Given the description of an element on the screen output the (x, y) to click on. 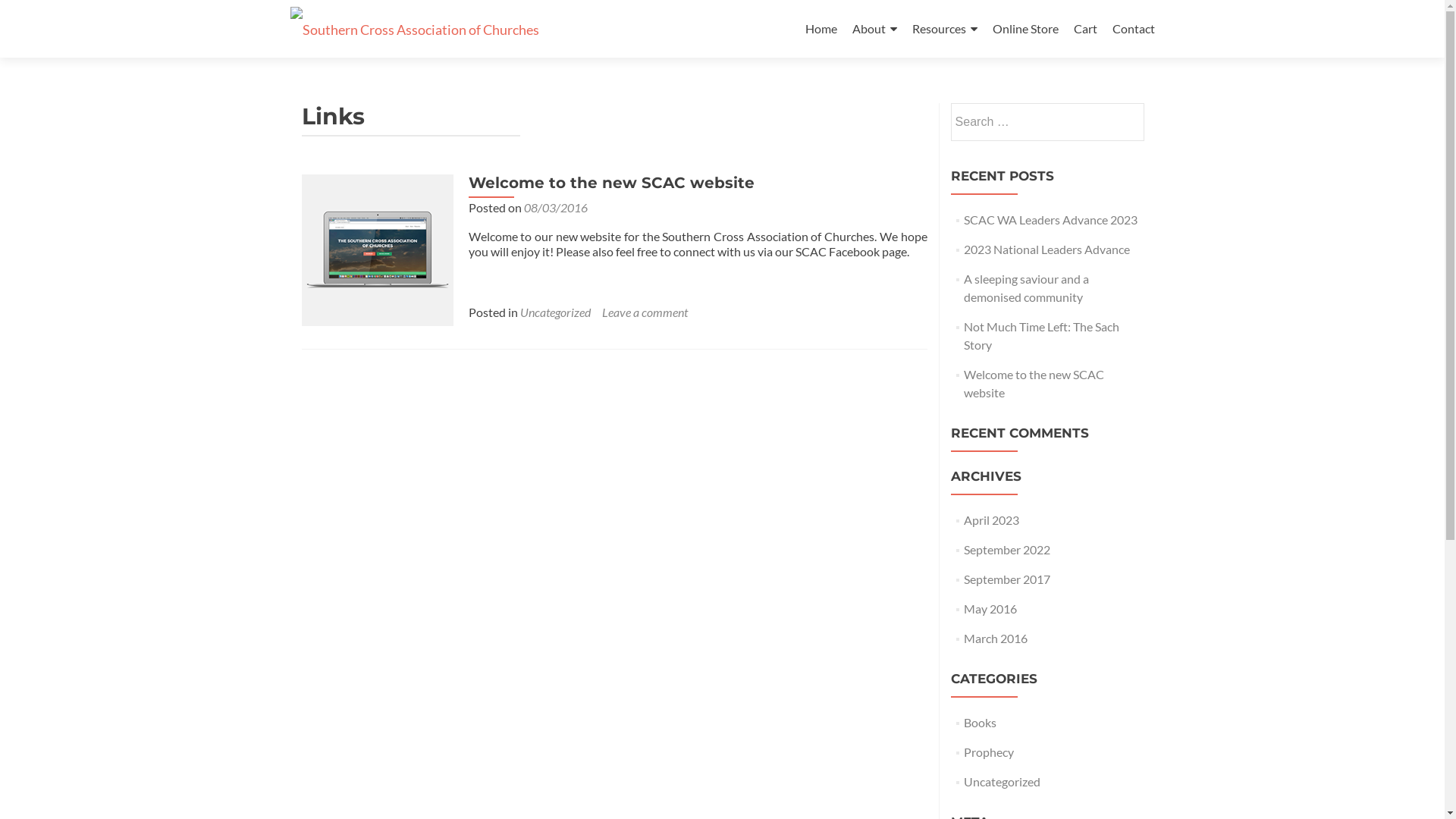
SCAC WA Leaders Advance 2023 Element type: text (1050, 219)
March 2016 Element type: text (995, 637)
08/03/2016 Element type: text (554, 207)
Not Much Time Left: The Sach Story Element type: text (1041, 335)
Uncategorized Element type: text (1001, 781)
2023 National Leaders Advance Element type: text (1046, 248)
A sleeping saviour and a demonised community Element type: text (1025, 287)
Cart Element type: text (1085, 28)
May 2016 Element type: text (989, 608)
September 2022 Element type: text (1006, 549)
Welcome to the new SCAC website Element type: hover (377, 248)
Welcome to the new SCAC website Element type: text (1033, 383)
Books Element type: text (979, 722)
Uncategorized Element type: text (555, 311)
Contact Element type: text (1132, 28)
Leave a comment Element type: text (644, 311)
Online Store Element type: text (1024, 28)
Welcome to the new SCAC website Element type: text (611, 182)
Search Element type: text (1125, 120)
Home Element type: text (821, 28)
April 2023 Element type: text (991, 519)
September 2017 Element type: text (1006, 578)
Resources Element type: text (943, 28)
About Element type: text (874, 28)
Prophecy Element type: text (988, 751)
